Given the description of an element on the screen output the (x, y) to click on. 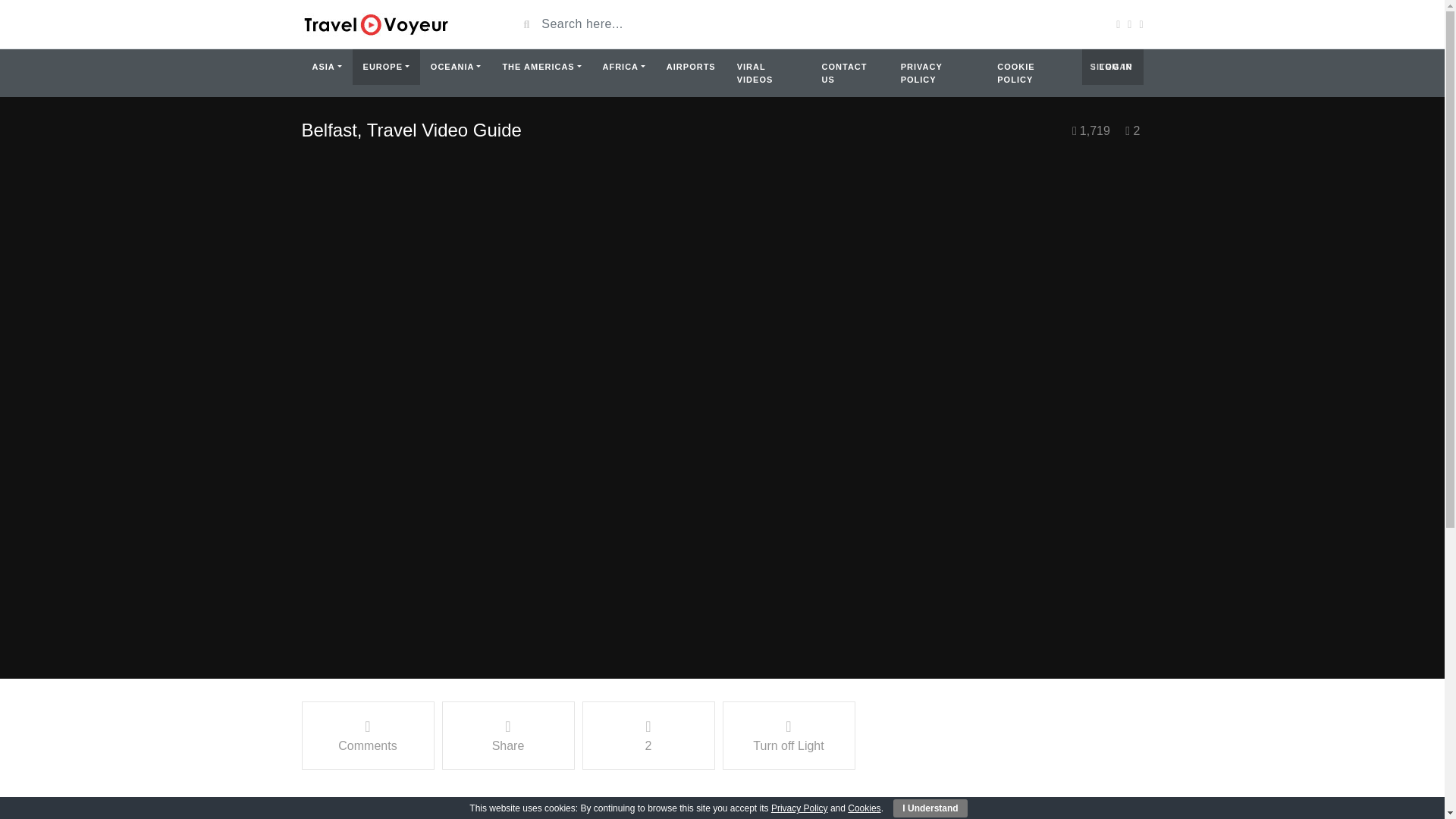
Comments (367, 735)
ASIA (326, 67)
Asia (326, 67)
